Given the description of an element on the screen output the (x, y) to click on. 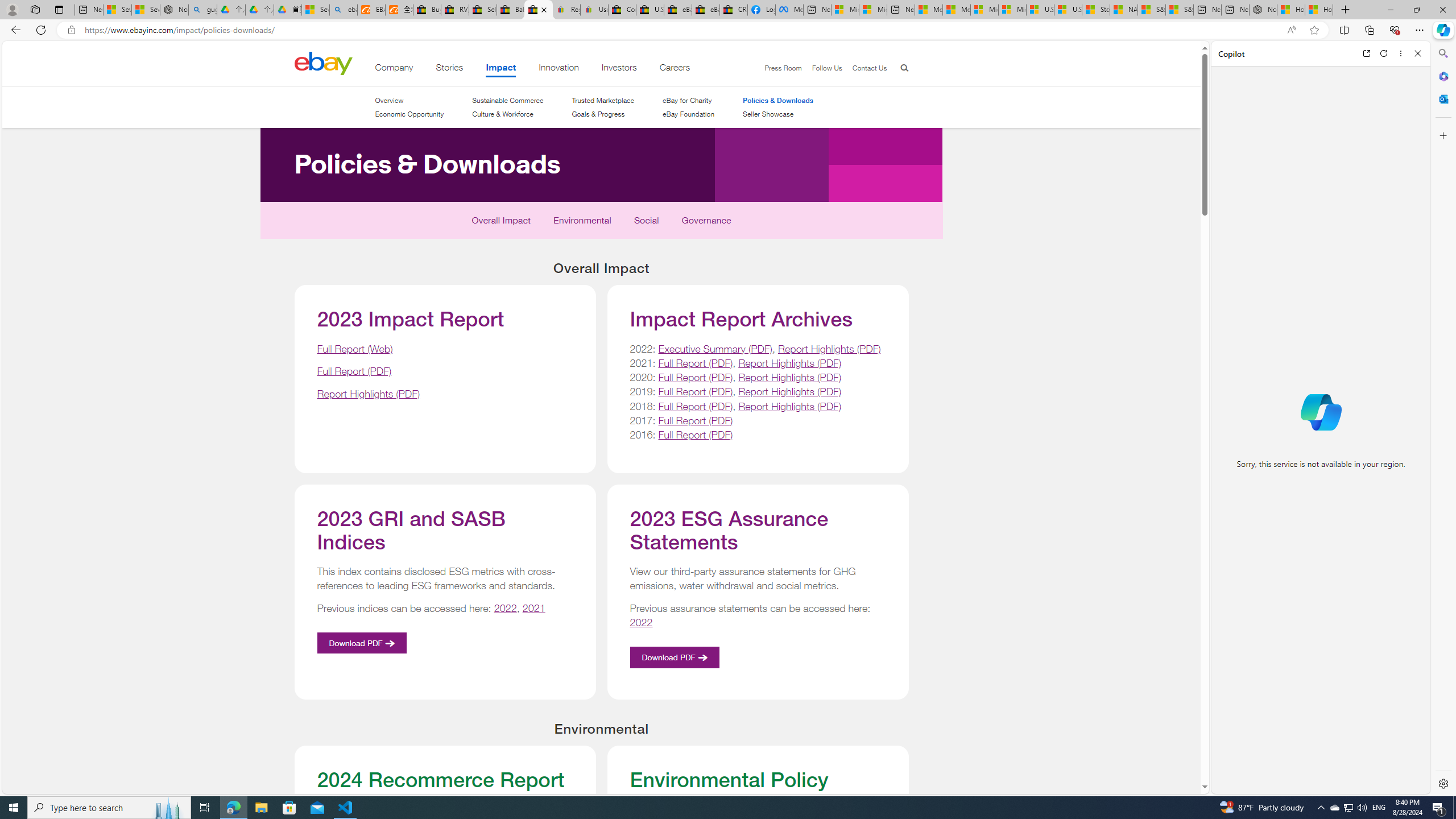
Governance (705, 222)
Stories (449, 69)
Innovation (558, 69)
Report Highlights (PDF) (789, 405)
Policies & Downloads (361, 225)
Overall Impact (501, 222)
Culture & Workforce (501, 113)
Company (393, 69)
